Given the description of an element on the screen output the (x, y) to click on. 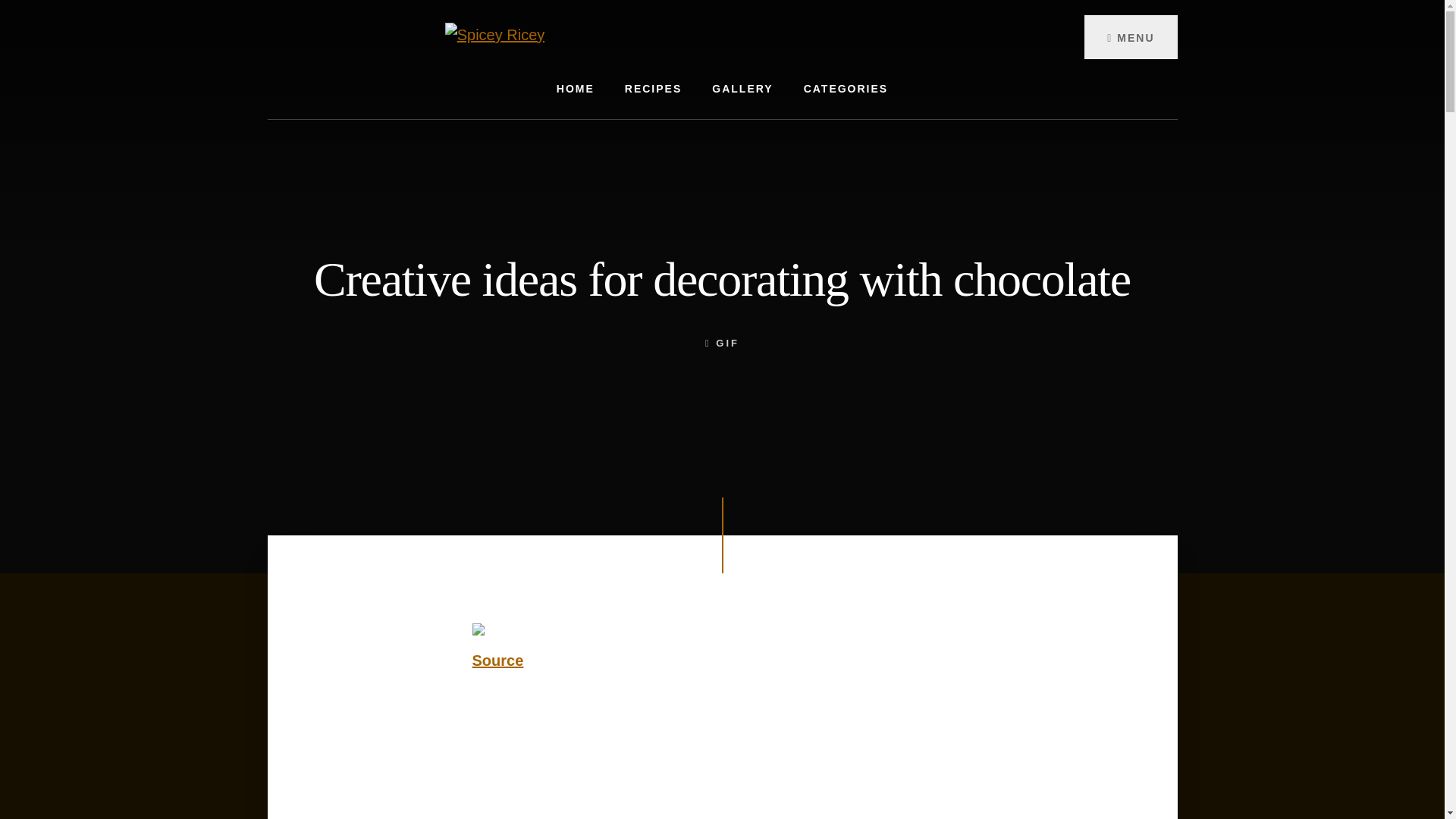
RECIPES (653, 88)
MENU (1130, 36)
HOME (575, 88)
CATEGORIES (846, 88)
GIF (727, 342)
Source (496, 660)
GALLERY (742, 88)
